Given the description of an element on the screen output the (x, y) to click on. 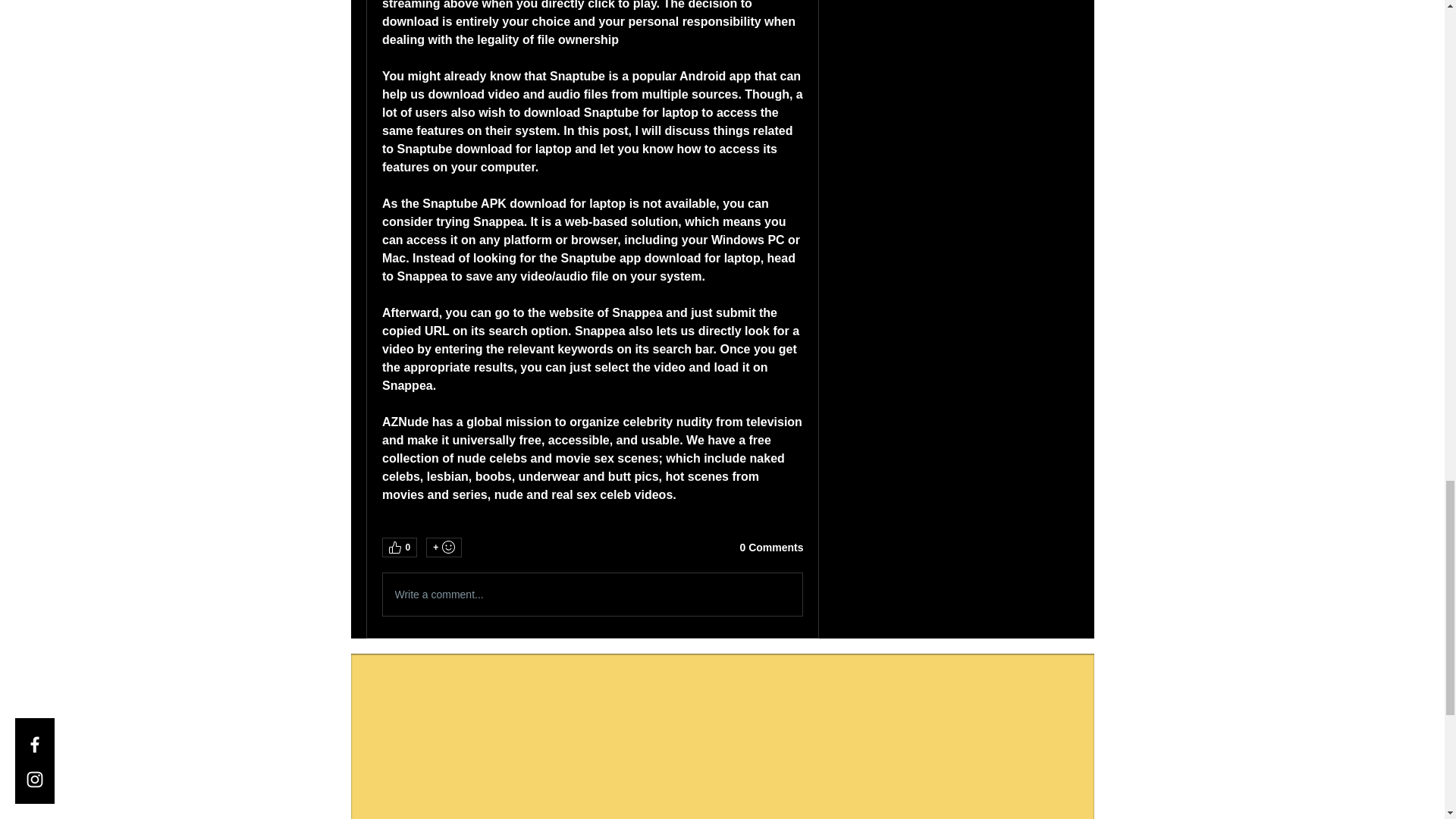
0 Comments (771, 548)
Write a comment... (591, 594)
